Given the description of an element on the screen output the (x, y) to click on. 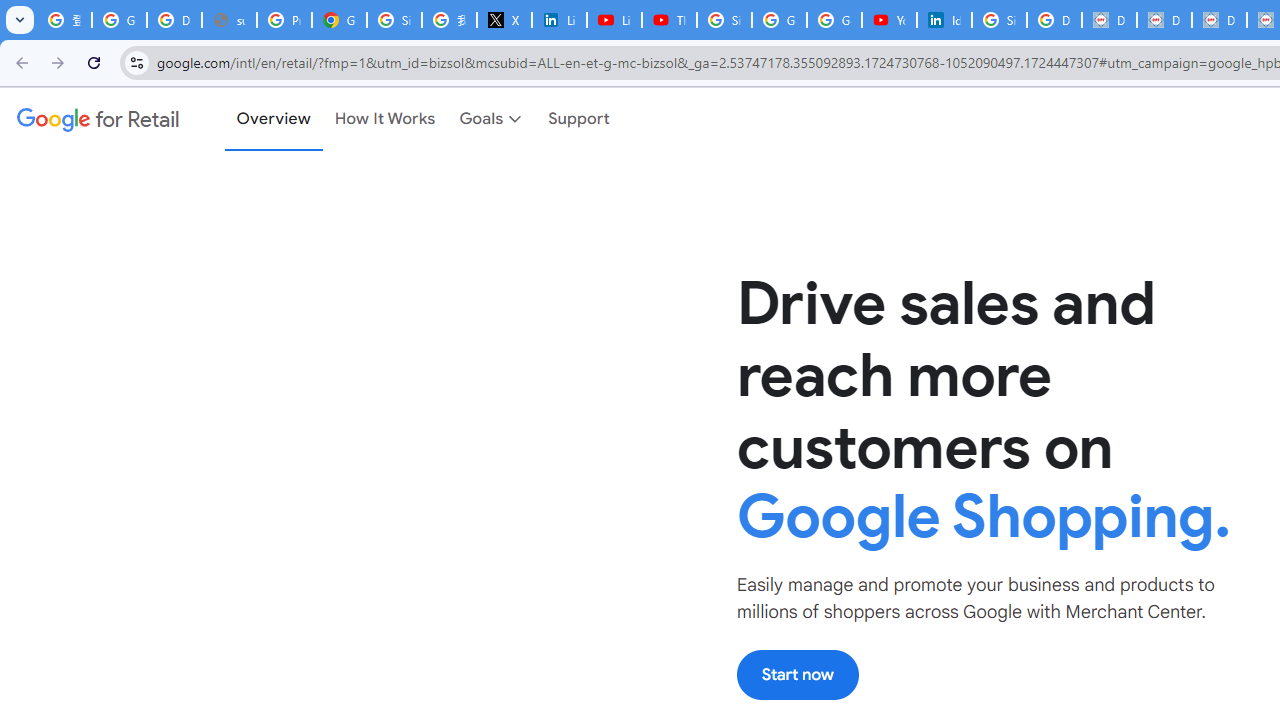
Data Privacy Framework (1163, 20)
Sign in - Google Accounts (998, 20)
X (504, 20)
Start now (797, 673)
Support (579, 119)
